Given the description of an element on the screen output the (x, y) to click on. 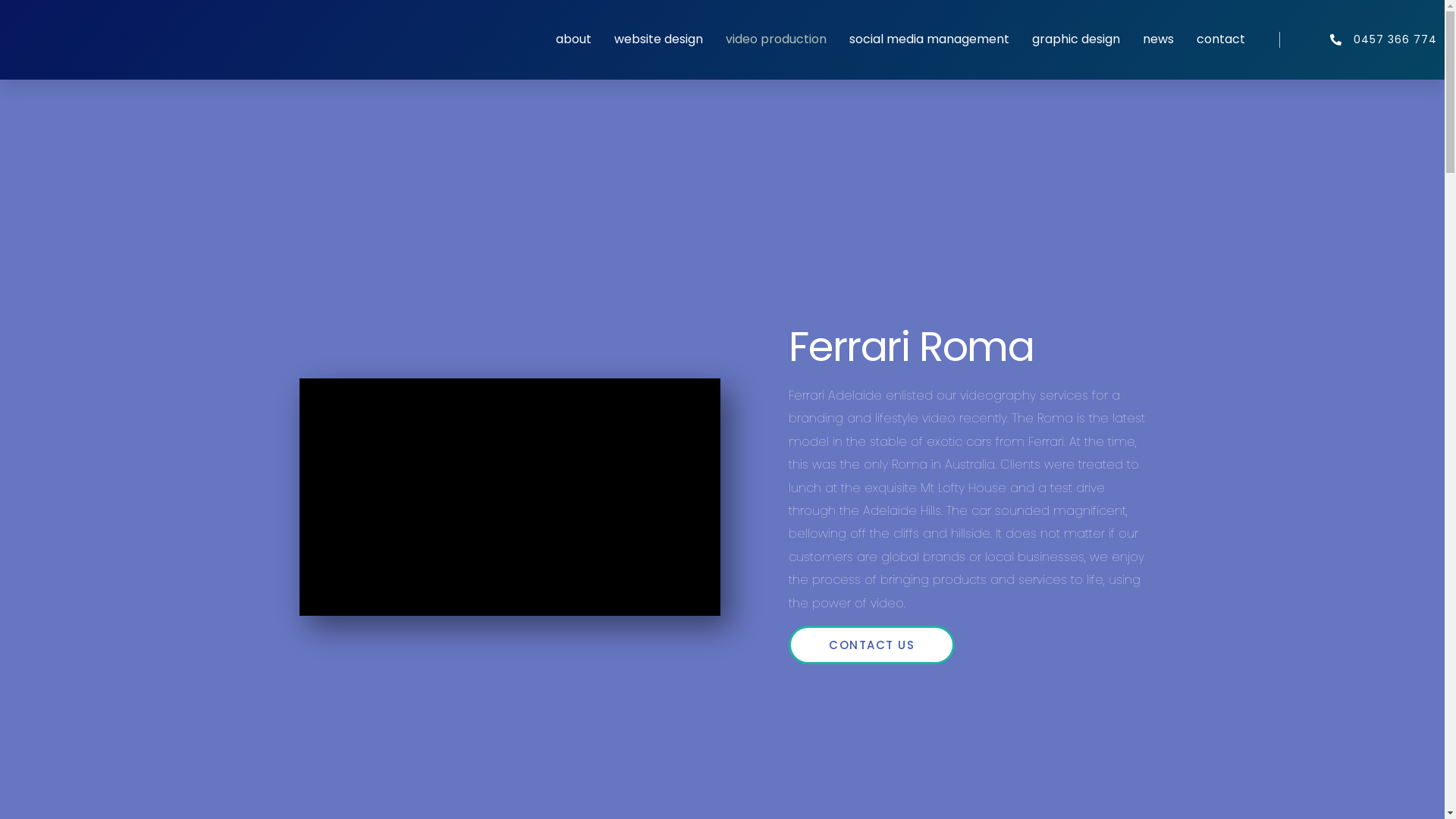
about Element type: text (573, 38)
CONTACT US Element type: text (871, 644)
news Element type: text (1158, 38)
social media management Element type: text (928, 38)
contact Element type: text (1220, 38)
website design Element type: text (658, 38)
0457 366 774 Element type: text (1358, 39)
vimeo Video Player Element type: hover (509, 496)
graphic design Element type: text (1075, 38)
video production Element type: text (775, 38)
